Given the description of an element on the screen output the (x, y) to click on. 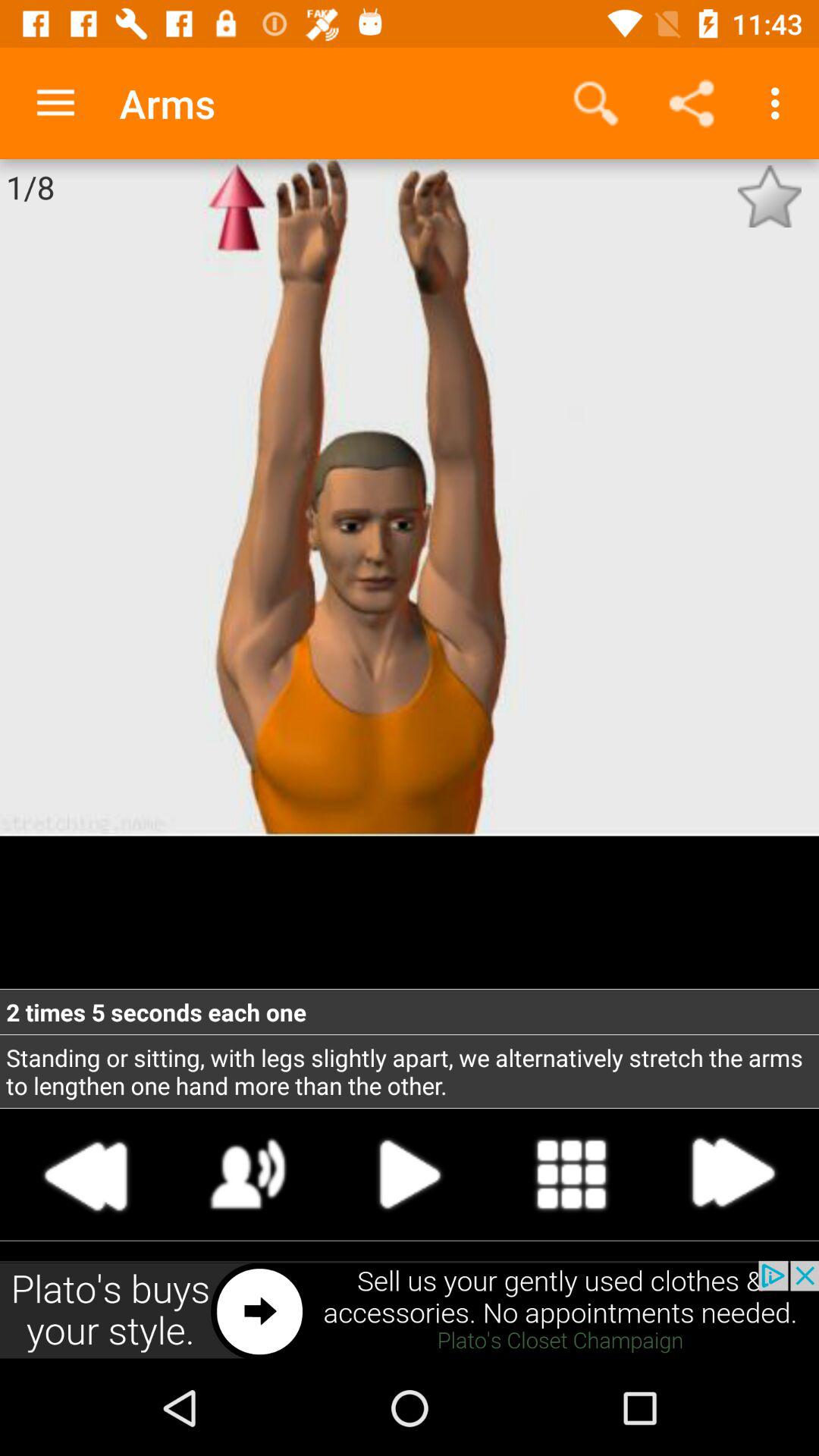
advertisement (409, 1310)
